Given the description of an element on the screen output the (x, y) to click on. 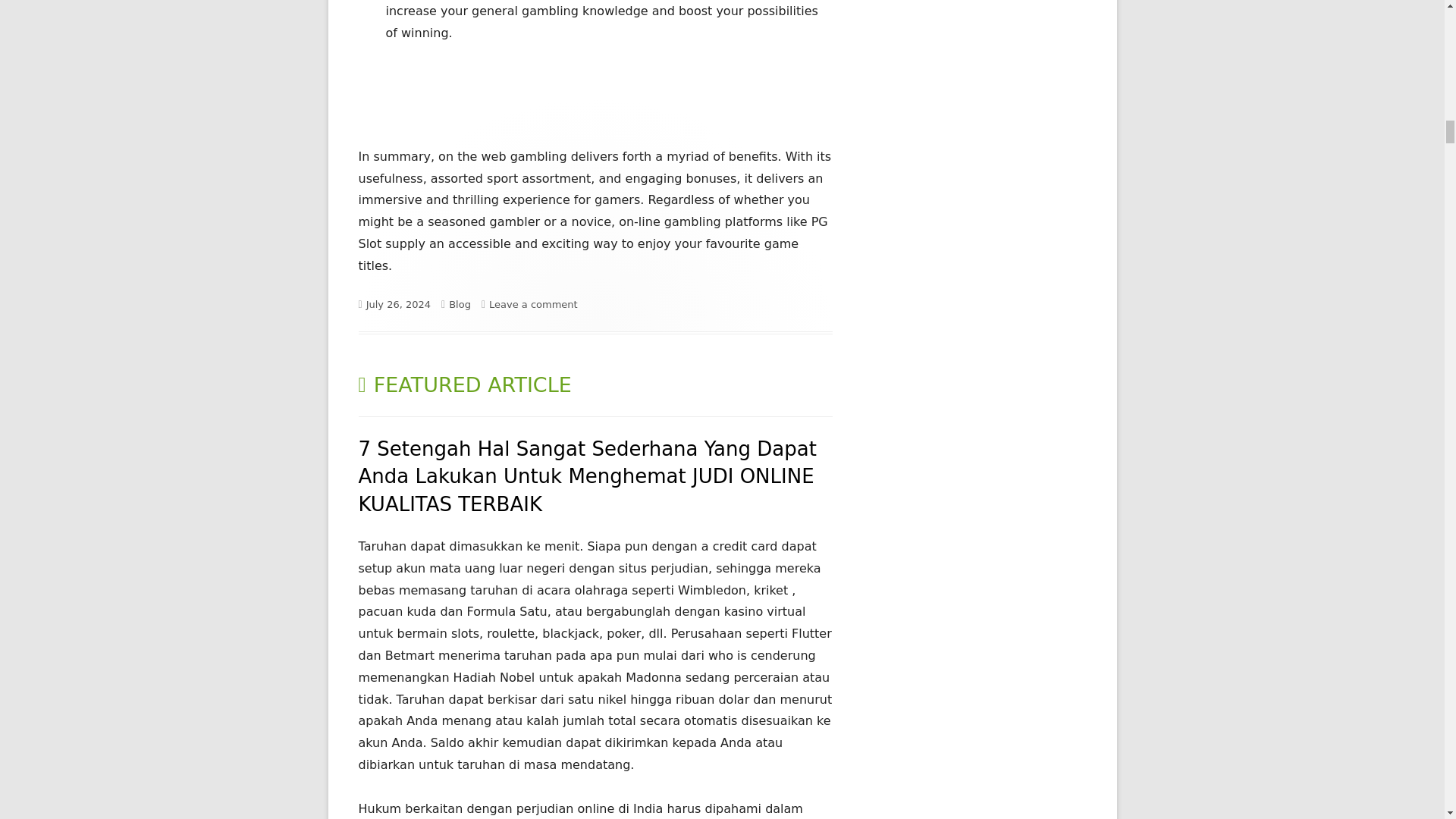
Blog (459, 304)
July 26, 2024 (398, 304)
